Given the description of an element on the screen output the (x, y) to click on. 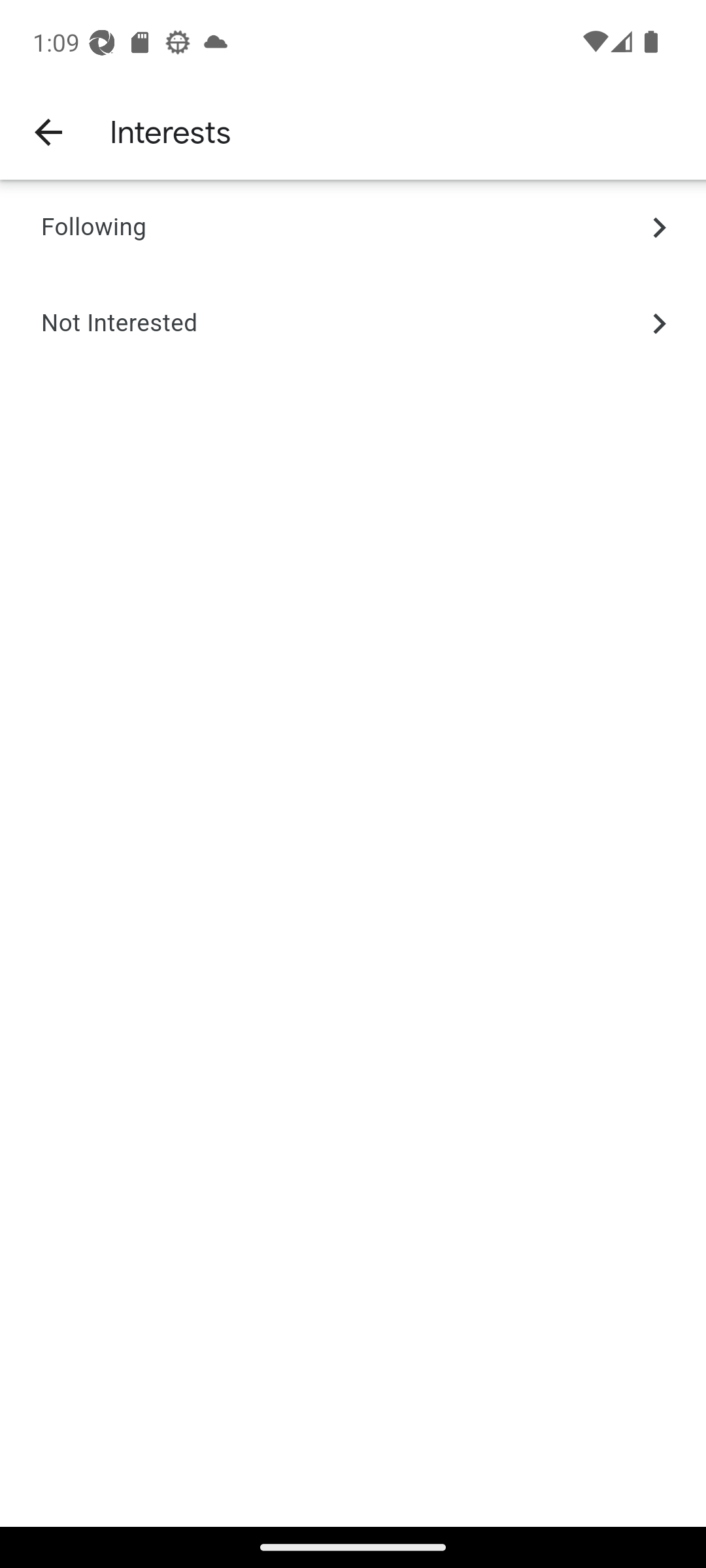
Back (47, 130)
Following Following Following (353, 227)
Following (93, 227)
Not Interested Not Interested Not Interested (353, 323)
Not Interested (119, 323)
